Given the description of an element on the screen output the (x, y) to click on. 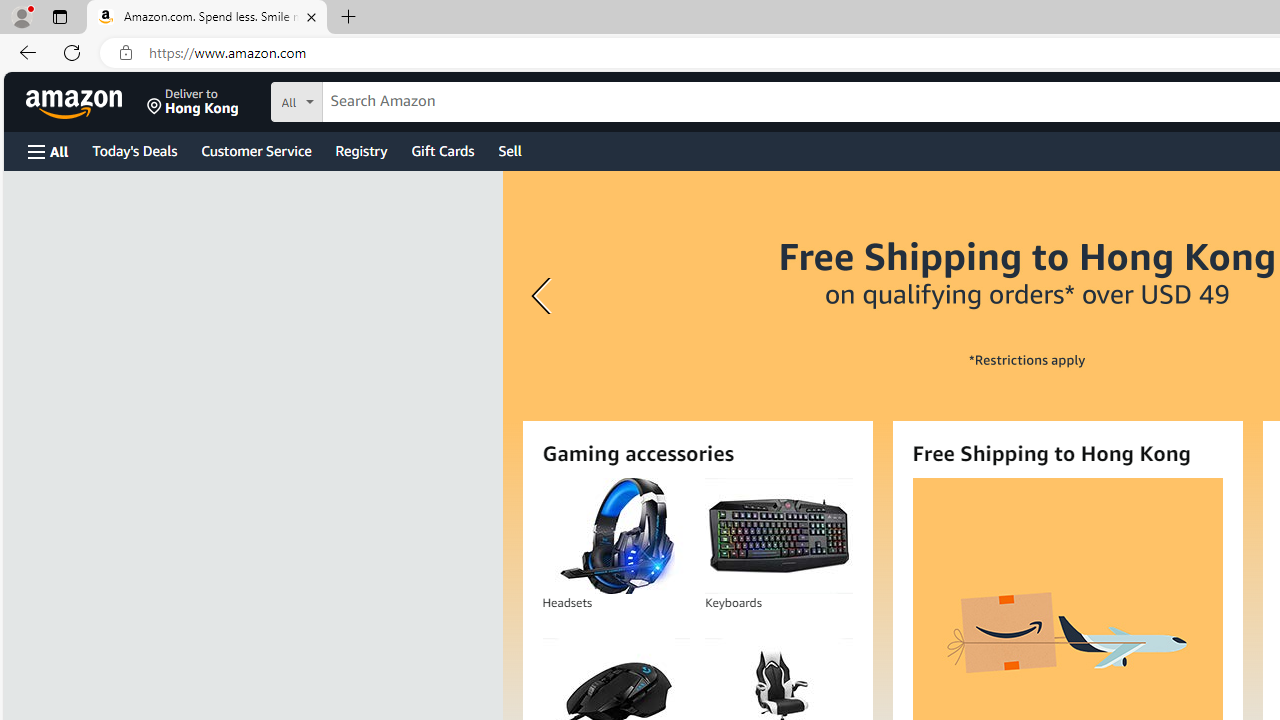
Amazon (76, 101)
Customer Service (256, 150)
Headsets (615, 536)
Registry (360, 150)
Search in (371, 99)
Headsets (616, 536)
Today's Deals (134, 150)
Keyboards (778, 536)
Deliver to Hong Kong (193, 101)
